Given the description of an element on the screen output the (x, y) to click on. 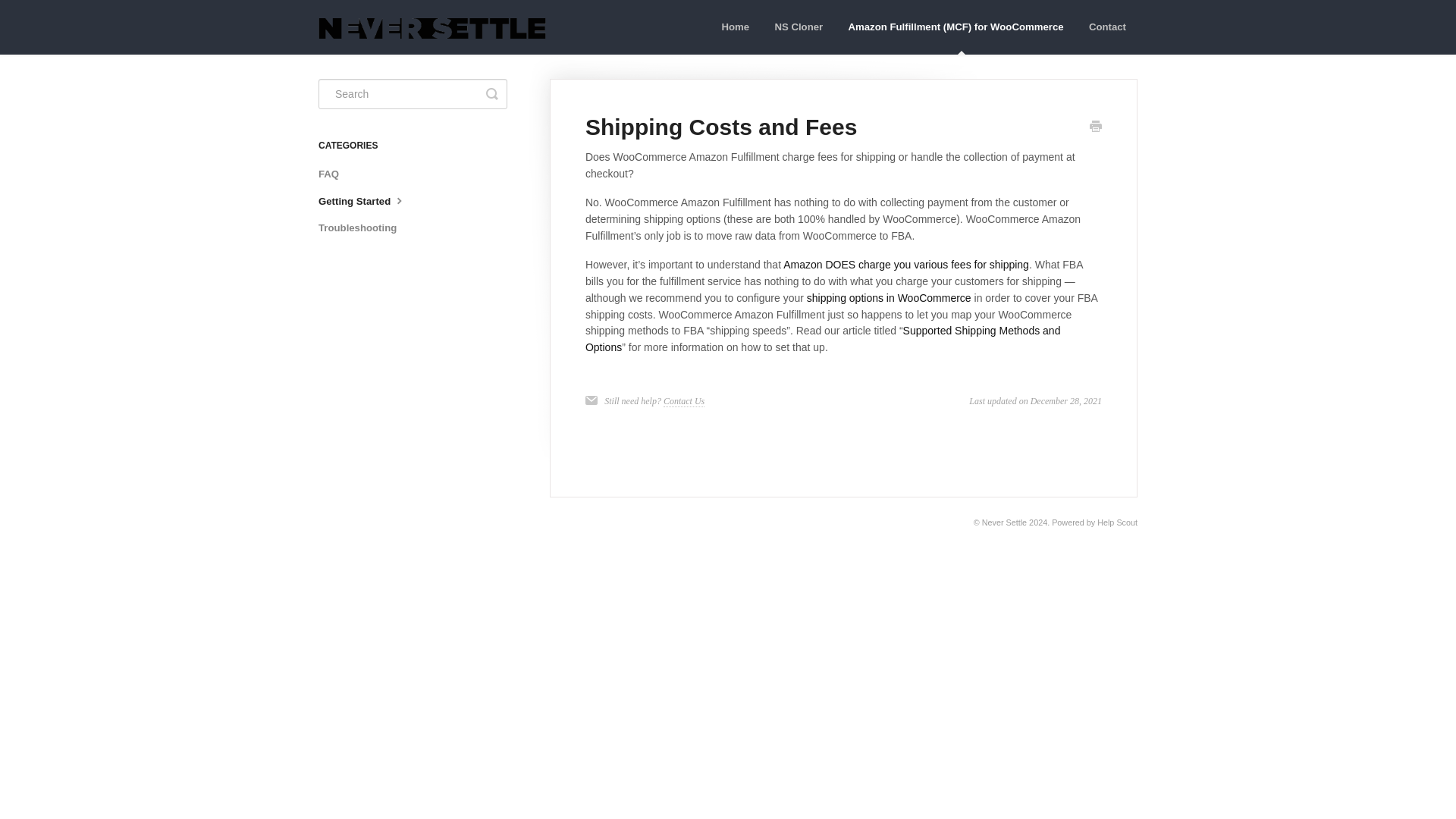
Toggle Search (491, 93)
NS Cloner (798, 27)
Contact Us (683, 401)
Contact (1107, 27)
Help Scout (1117, 522)
Supported Shipping Methods and Options (823, 338)
Getting Started (368, 201)
shipping options in WooCommerce (888, 297)
Troubleshooting (362, 228)
Print this article (1095, 127)
Home (735, 27)
Never Settle (1003, 522)
search-query (412, 93)
FAQ (334, 174)
Amazon DOES charge you various fees for shipping (906, 264)
